Given the description of an element on the screen output the (x, y) to click on. 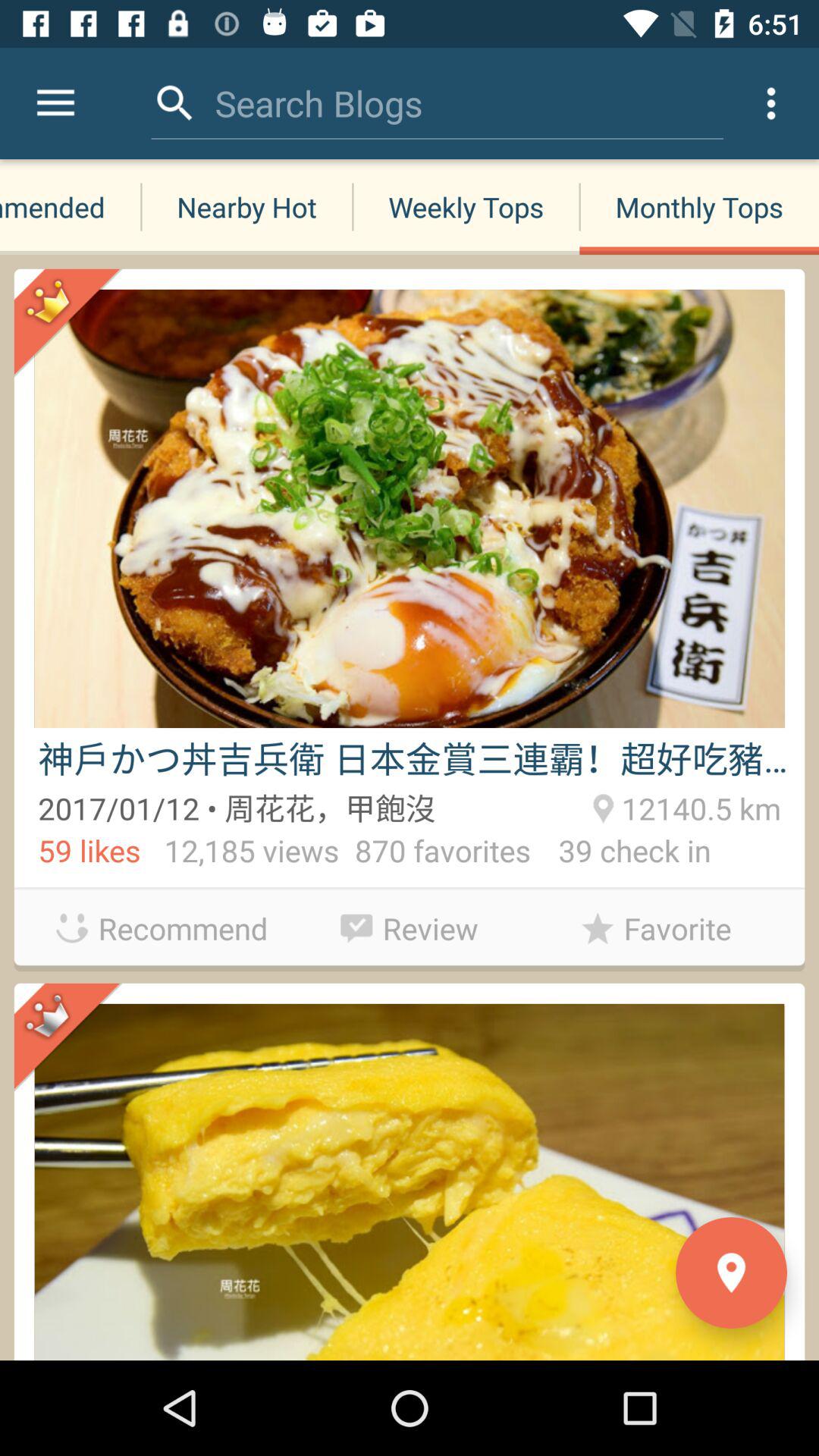
press item next to nearby hot icon (55, 103)
